Given the description of an element on the screen output the (x, y) to click on. 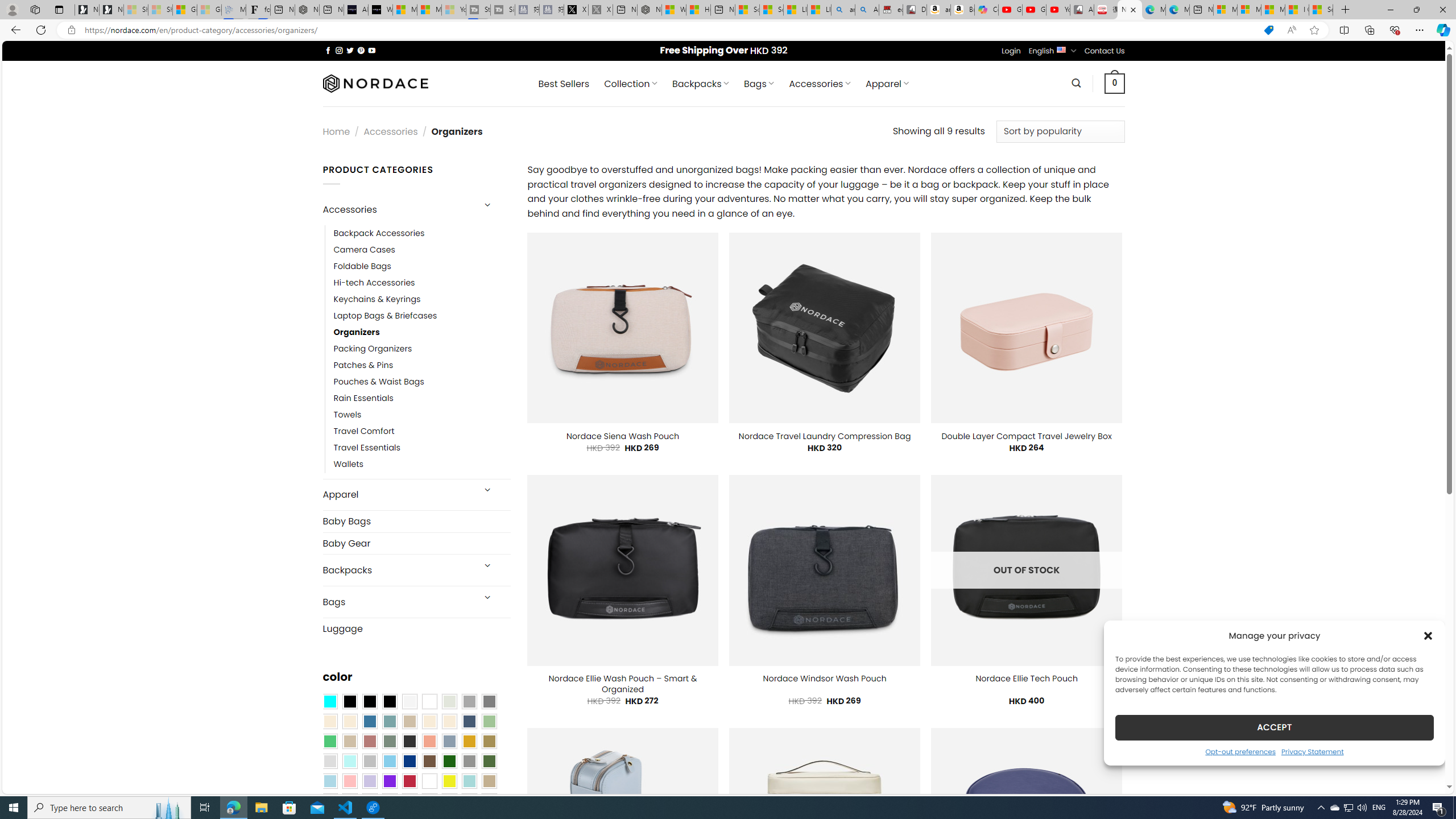
Rain Essentials (422, 398)
Light Purple (369, 780)
Organizers (422, 332)
Follow on Instagram (338, 49)
Hale Navy (468, 721)
Wildlife - MSN (673, 9)
 0  (1115, 83)
ACCEPT (1274, 727)
Beige-Brown (349, 721)
Luggage (416, 628)
Black (369, 701)
